Given the description of an element on the screen output the (x, y) to click on. 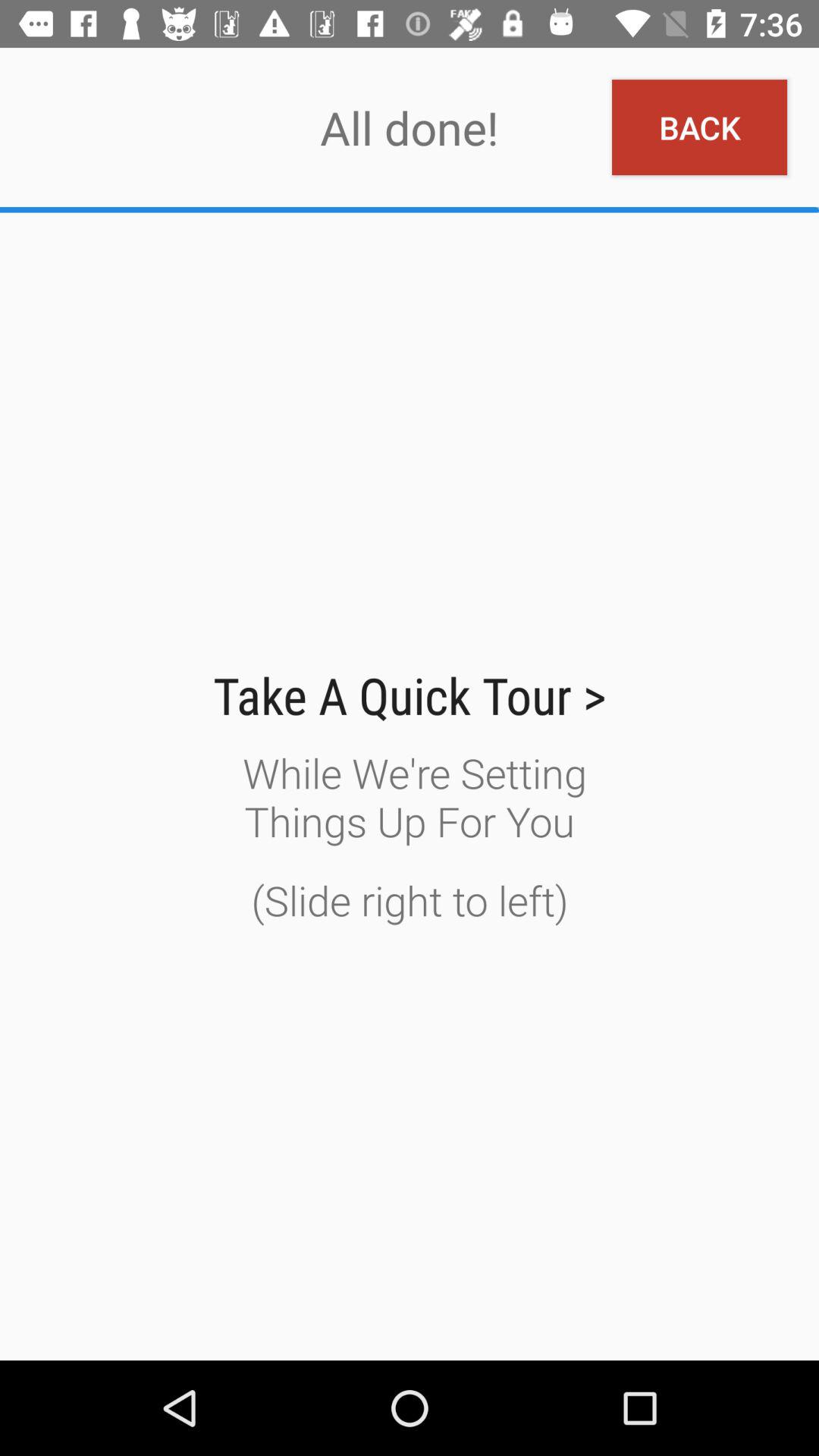
open the app next to the all done! (699, 127)
